Given the description of an element on the screen output the (x, y) to click on. 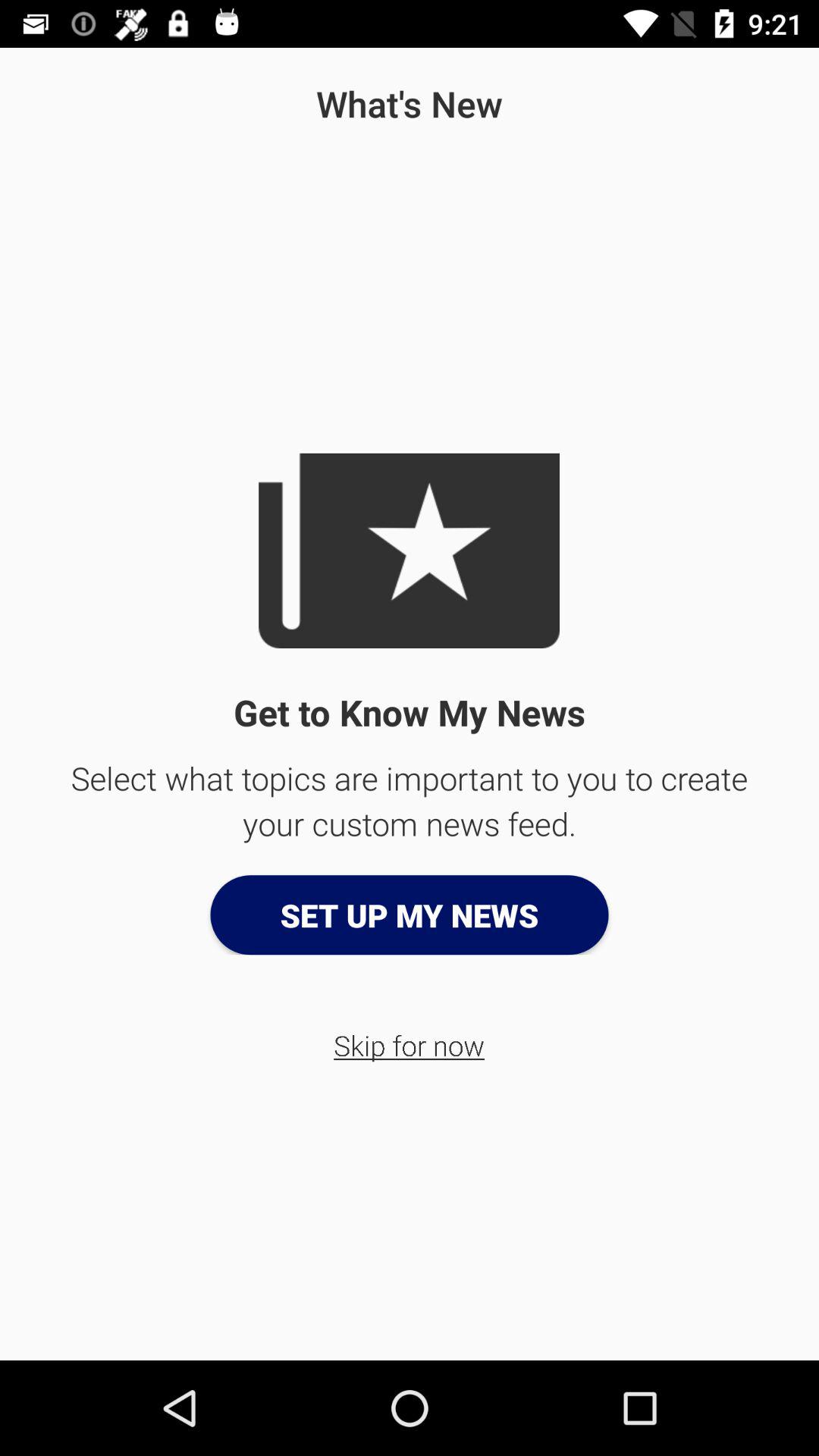
turn off skip for now icon (409, 1044)
